Given the description of an element on the screen output the (x, y) to click on. 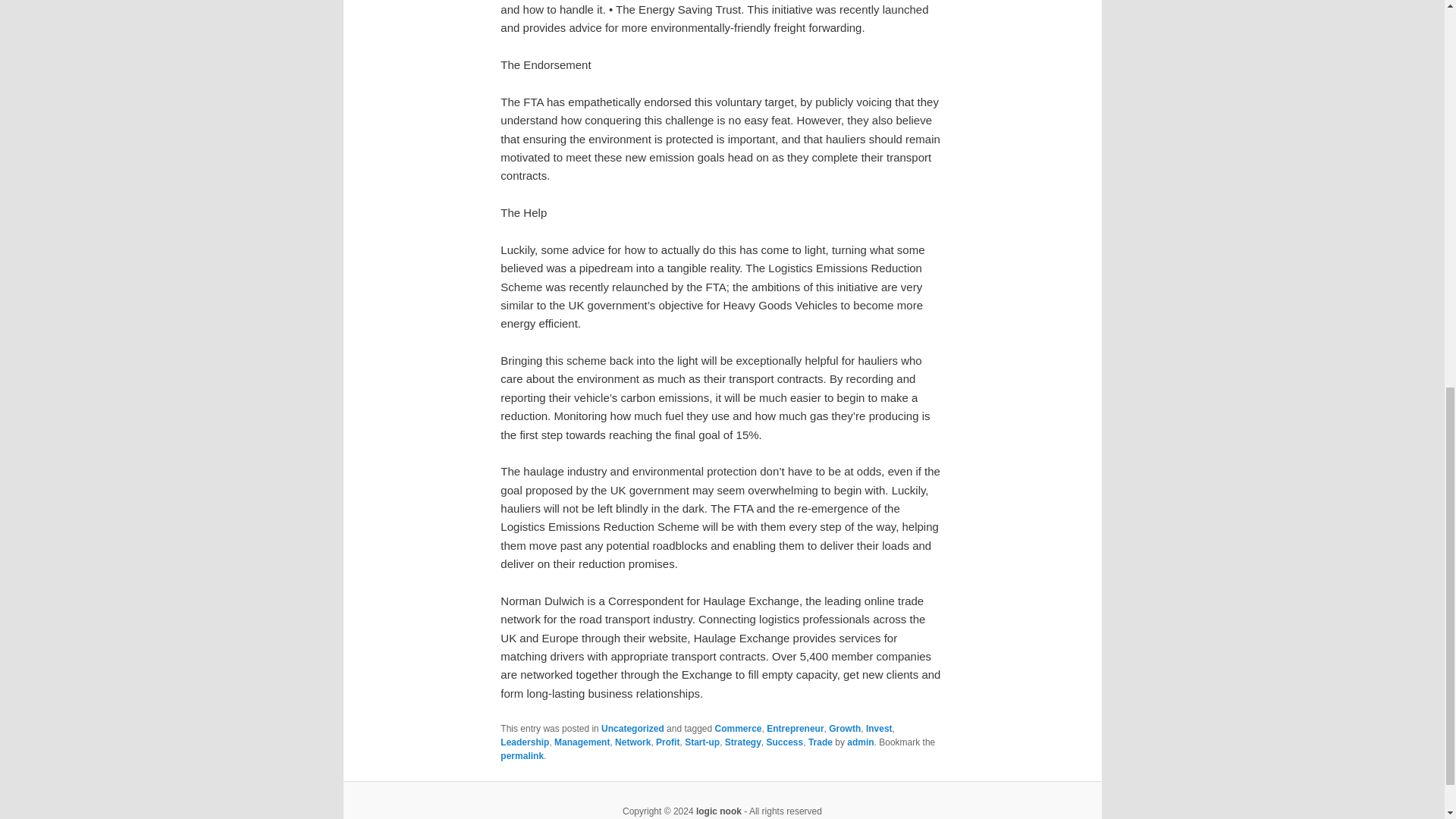
Commerce (737, 728)
Management (582, 742)
admin (860, 742)
Invest (879, 728)
Entrepreneur (795, 728)
Profit (667, 742)
Uncategorized (632, 728)
logic nook (718, 810)
View all posts in Uncategorized (632, 728)
Success (784, 742)
logic nook (718, 810)
permalink (521, 756)
Leadership (524, 742)
Strategy (743, 742)
